Given the description of an element on the screen output the (x, y) to click on. 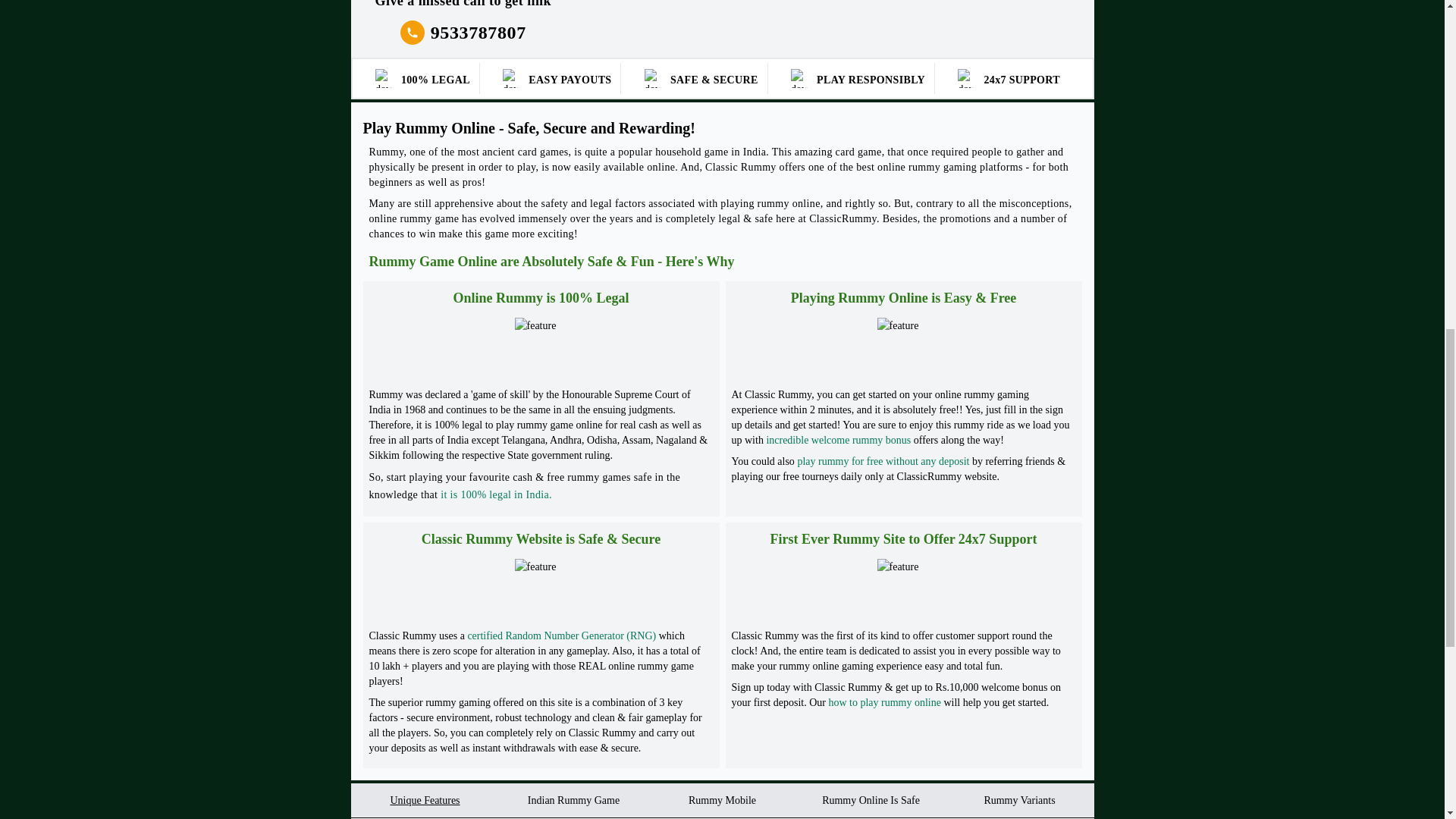
Indian Rummy Game (573, 799)
Rummy Mobile (721, 799)
incredible welcome rummy bonus (838, 439)
Rummy Online Is Safe (870, 799)
how to play rummy online (884, 701)
Rummy Variants (1018, 799)
Unique Features (424, 799)
play rummy for free without any deposit (882, 460)
